Given the description of an element on the screen output the (x, y) to click on. 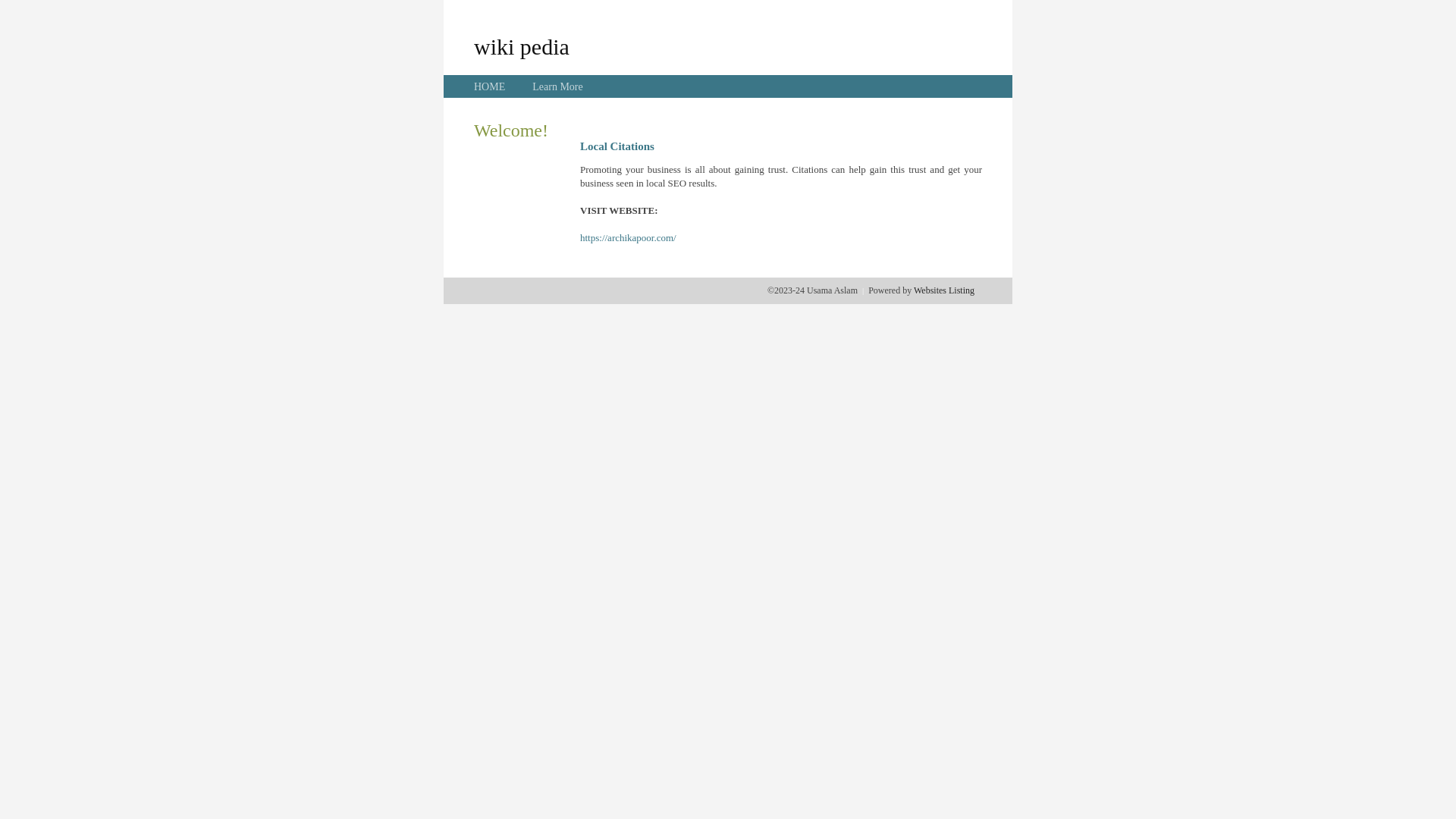
HOME Element type: text (489, 86)
Websites Listing Element type: text (943, 290)
Learn More Element type: text (557, 86)
https://archikapoor.com/ Element type: text (628, 237)
wiki pedia Element type: text (521, 46)
